Given the description of an element on the screen output the (x, y) to click on. 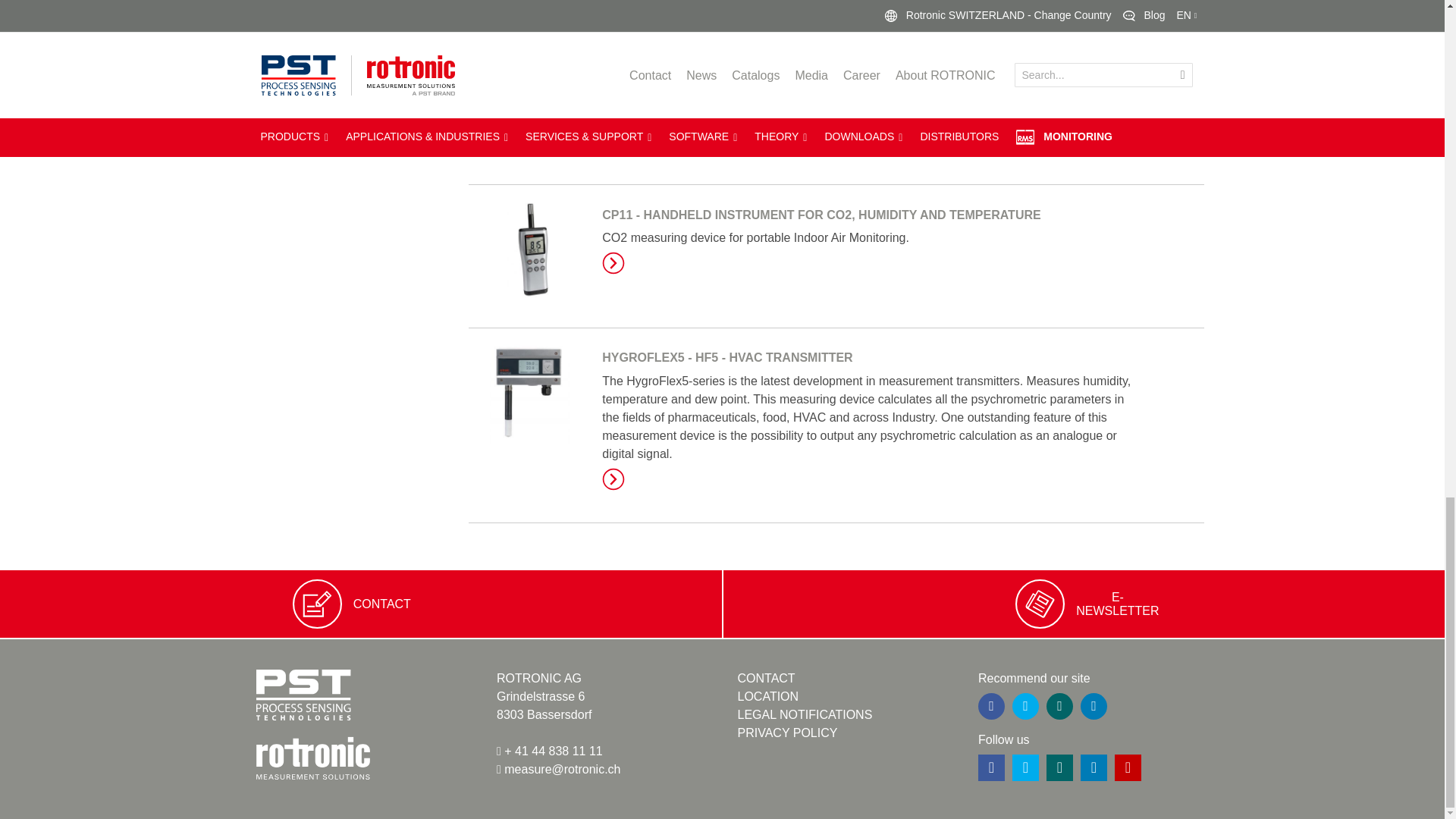
HygroFlex5 - HF5 - HVAC TRANSMITTER (726, 357)
HygroLog HL-1D - INEXPENSIVE DATA LOGGER (613, 138)
 RMS - ROTRONIC CONTINUOUS MONITORING SYSTEM (613, 4)
HygroLog HL-1D - INEXPENSIVE DATA LOGGER (748, 71)
CP11 - Handheld Instrument for CO2, Humidity and Temperature (613, 262)
Rotronic Measurement Solutions (312, 755)
CP11 - Handheld Instrument for CO2, Humidity and Temperature (821, 214)
HygroFlex5 - HF5 - HVAC TRANSMITTER (613, 478)
